Given the description of an element on the screen output the (x, y) to click on. 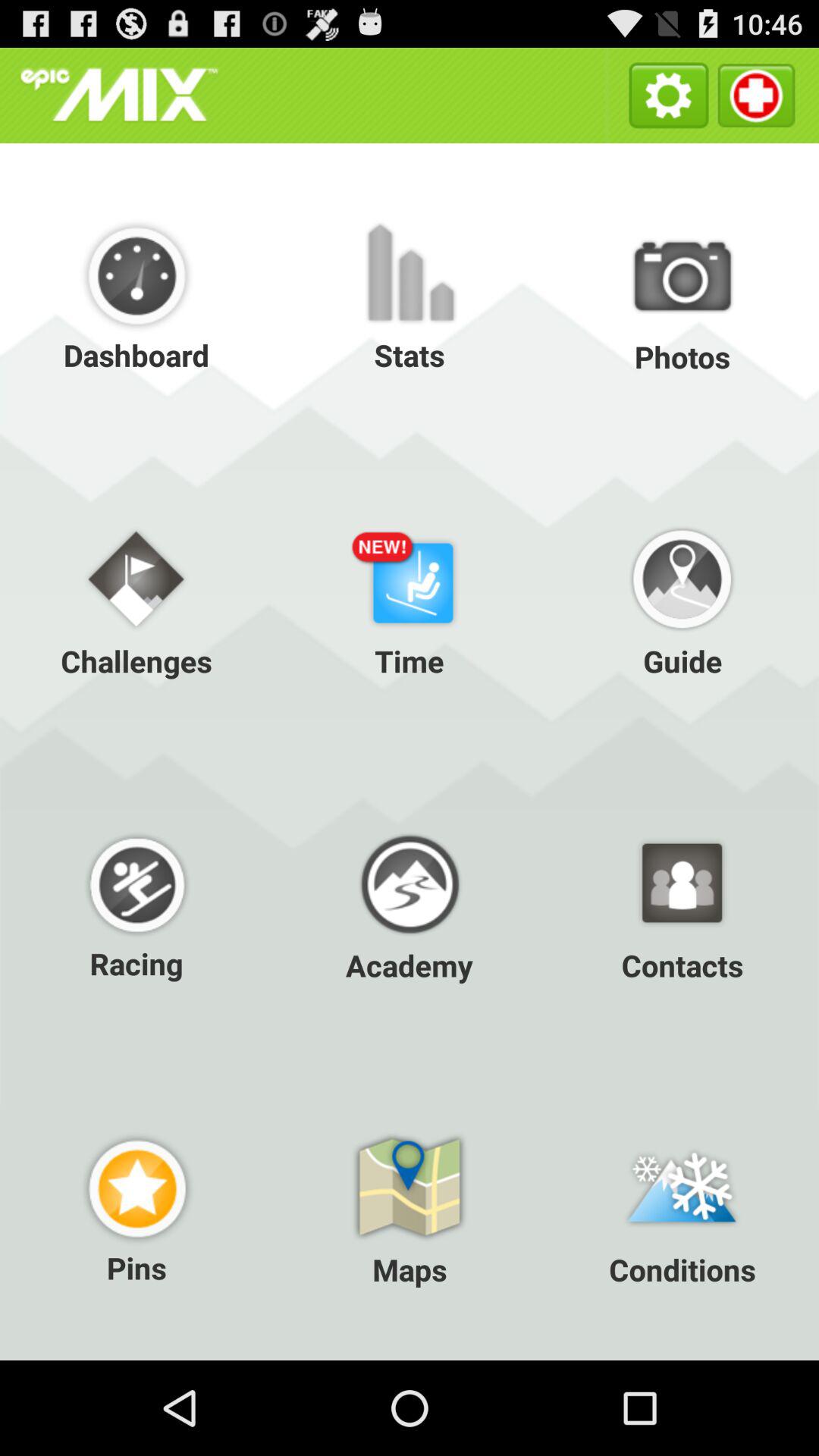
choose icon to the right of the racing item (409, 903)
